Given the description of an element on the screen output the (x, y) to click on. 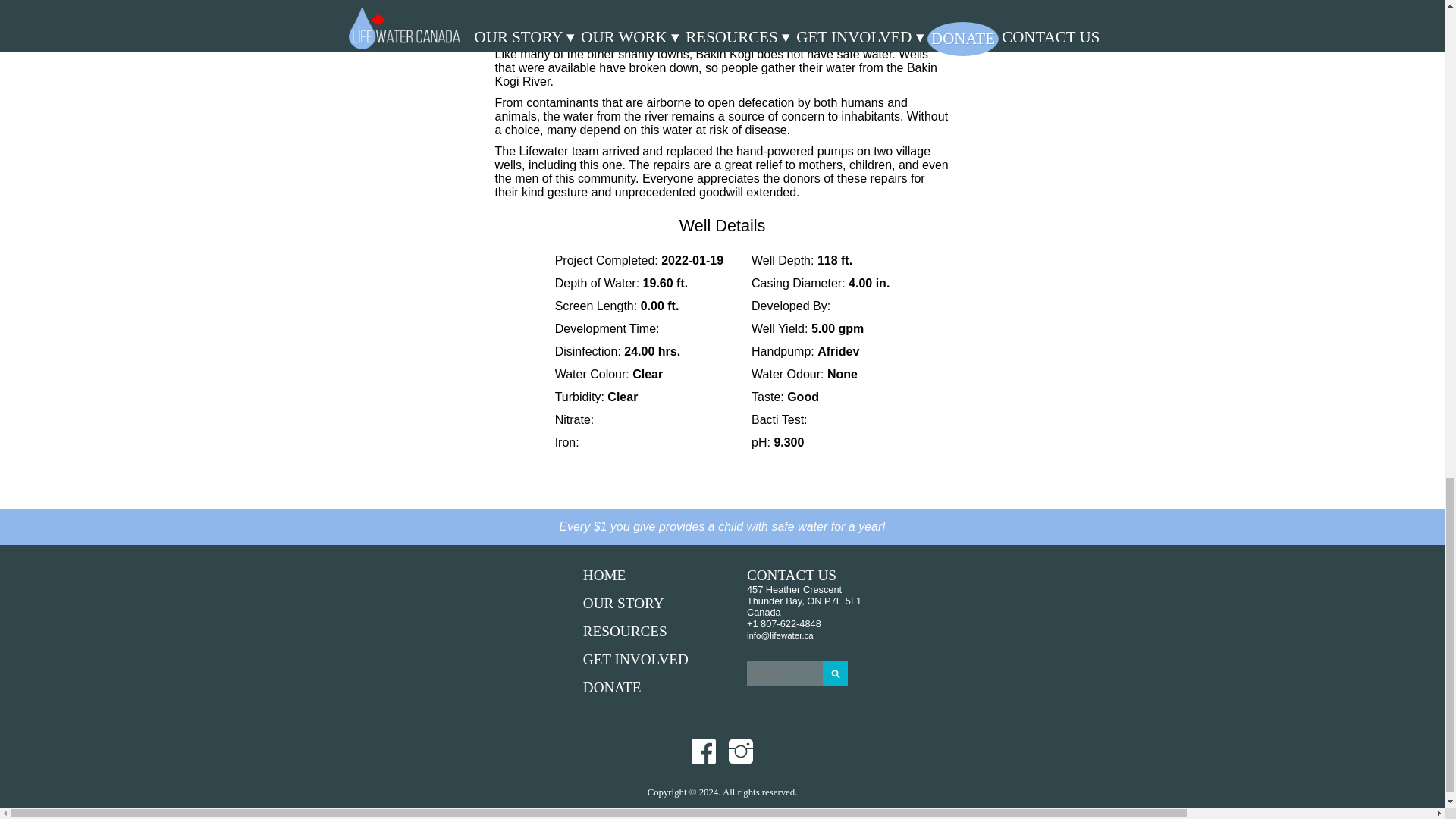
See what we are doing on Instagram (740, 751)
Search (834, 673)
Visit our Facebook page (703, 751)
